Given the description of an element on the screen output the (x, y) to click on. 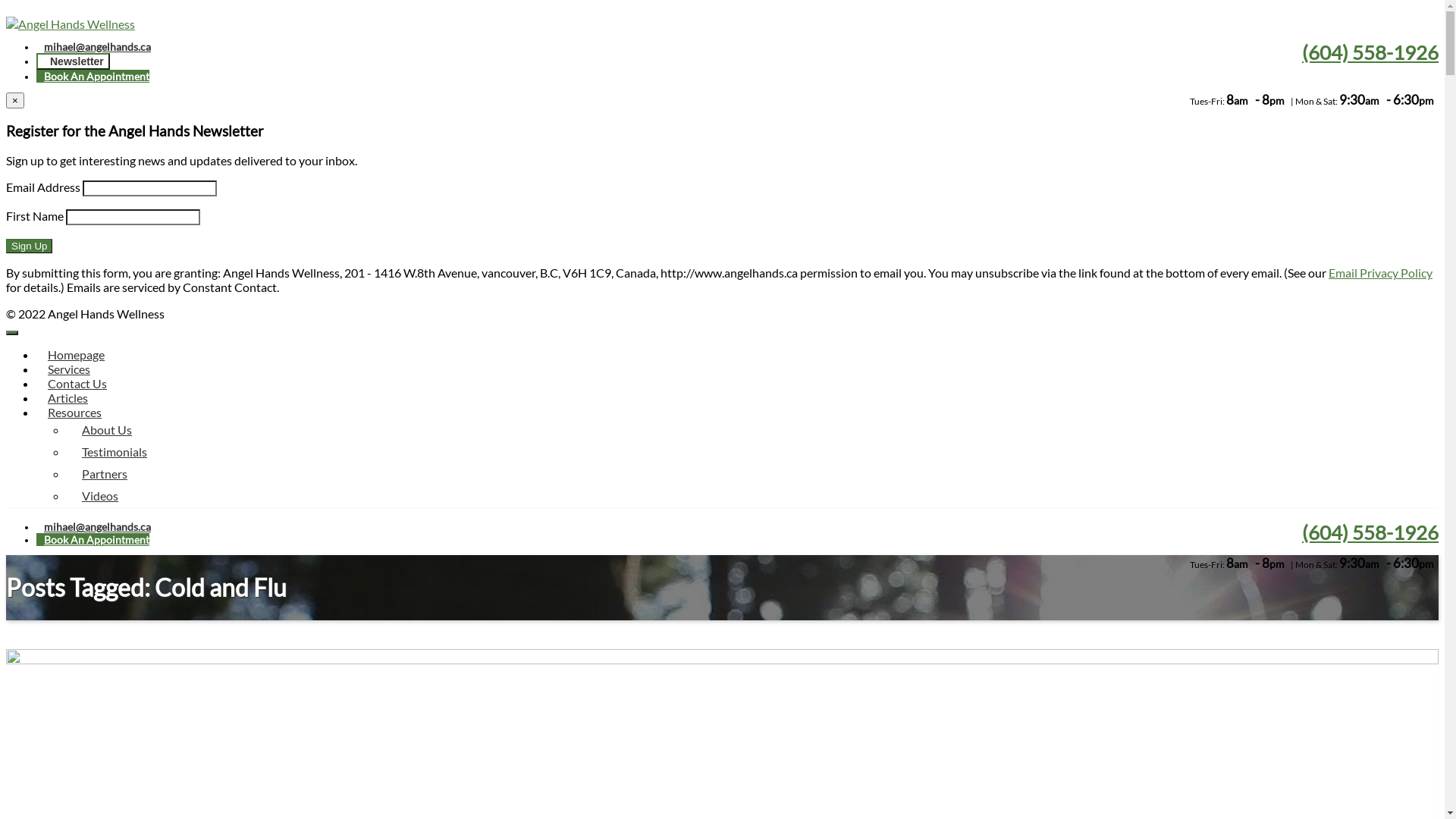
Partners Element type: text (752, 474)
Articles Element type: text (67, 397)
Angel Hands Wellness Element type: hover (70, 23)
Book An Appointment Element type: text (92, 539)
Newsletter Element type: text (72, 61)
Resources Element type: text (74, 411)
Contact Us Element type: text (77, 382)
(604) 558-1926 Element type: text (1366, 51)
Videos Element type: text (752, 496)
Testimonials Element type: text (752, 452)
Services Element type: text (68, 368)
(604) 558-1926 Element type: text (1366, 531)
Homepage Element type: text (76, 354)
Book An Appointment Element type: text (92, 75)
mihael@angelhands.ca Element type: text (93, 526)
Email Privacy Policy Element type: text (1380, 272)
About Us Element type: text (752, 430)
Sign Up Element type: text (29, 245)
mihael@angelhands.ca Element type: text (93, 46)
